Given the description of an element on the screen output the (x, y) to click on. 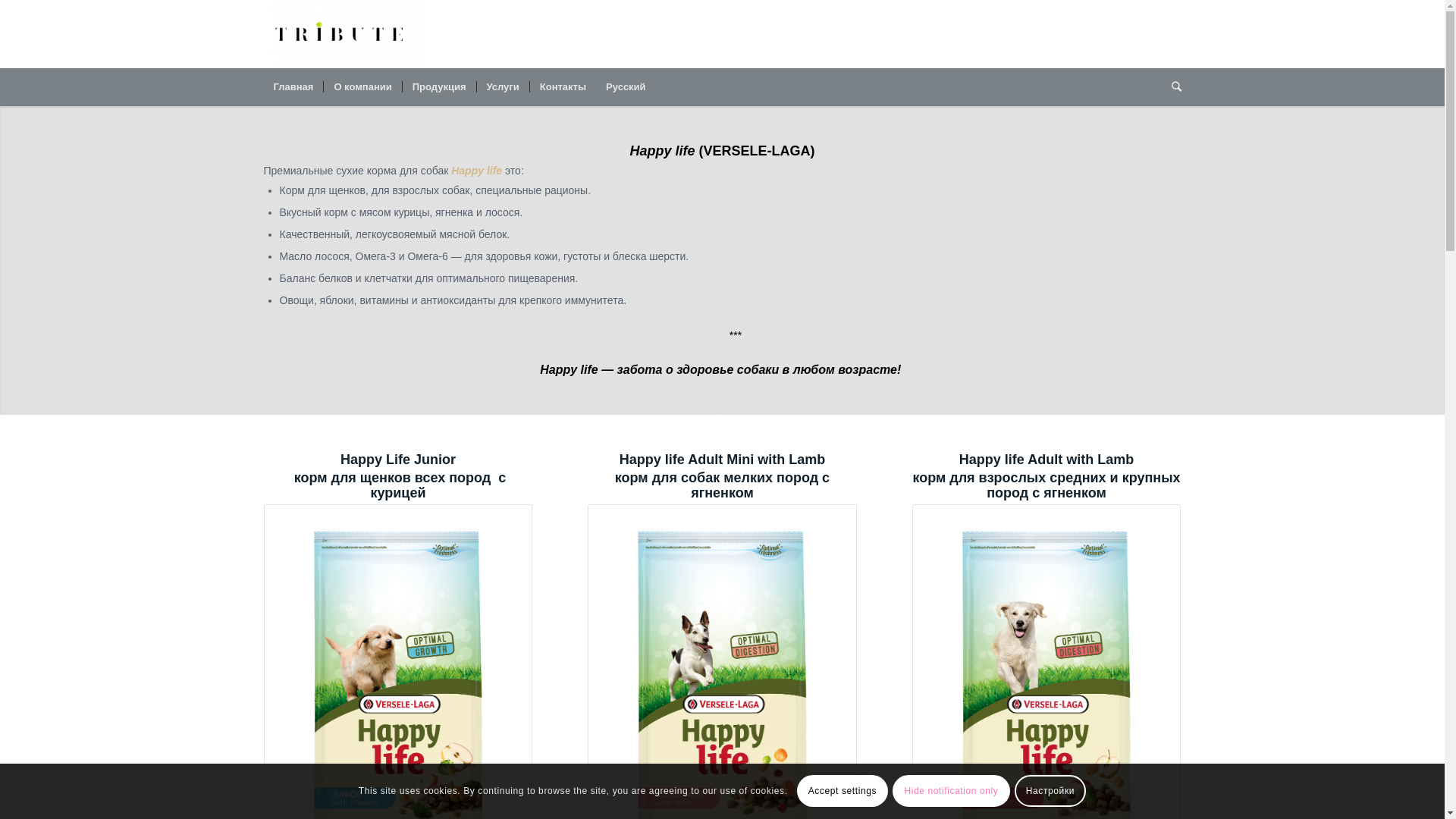
Accept settings Element type: text (842, 790)
Hide notification only Element type: text (950, 790)
